Given the description of an element on the screen output the (x, y) to click on. 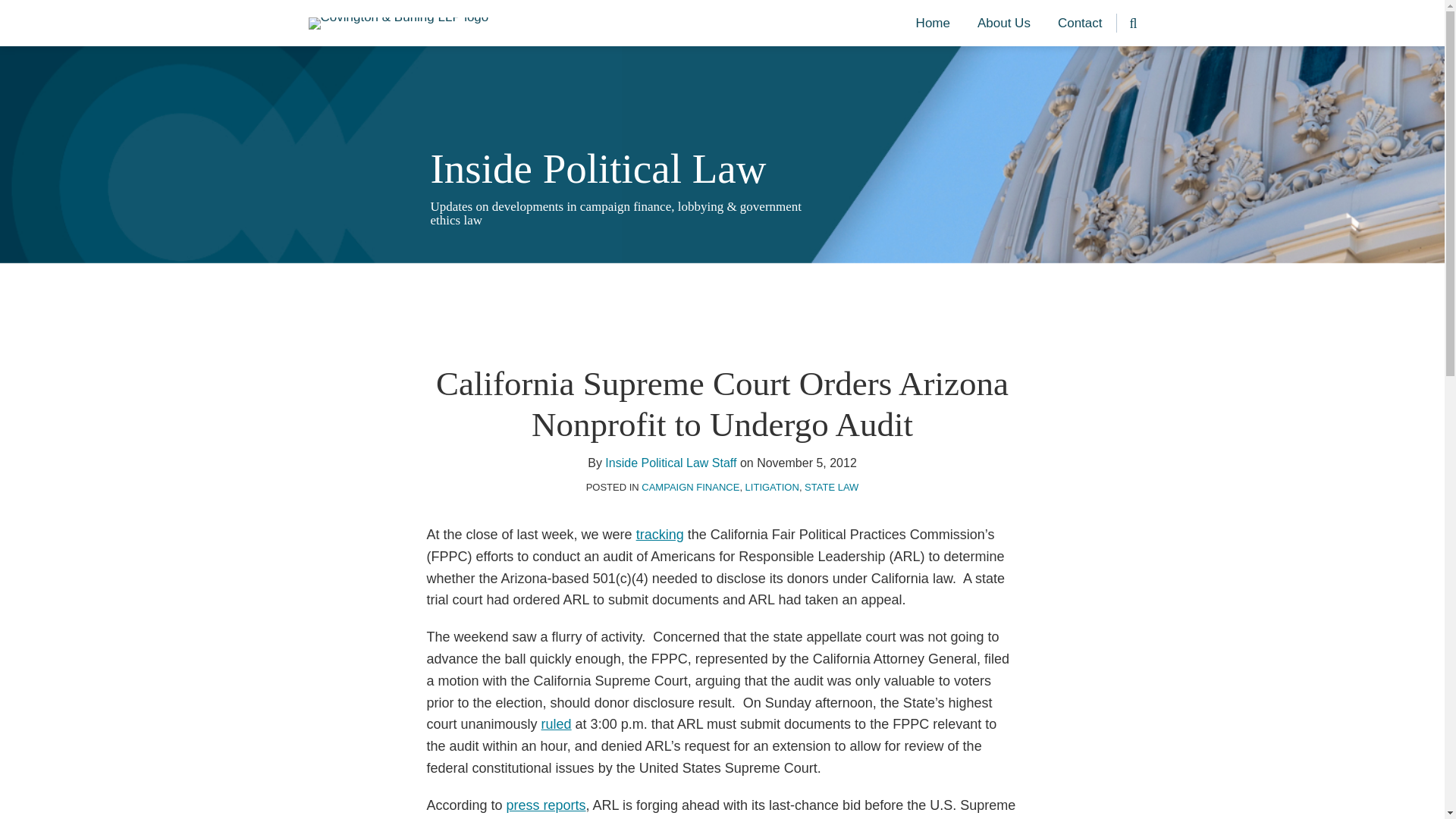
Inside Political Law Staff (670, 462)
Contact (1080, 23)
CAMPAIGN FINANCE (690, 487)
Inside Political Law (598, 168)
LITIGATION (772, 487)
tracking (660, 534)
Home (932, 23)
STATE LAW (832, 487)
press reports (546, 805)
About Us (1003, 23)
